Given the description of an element on the screen output the (x, y) to click on. 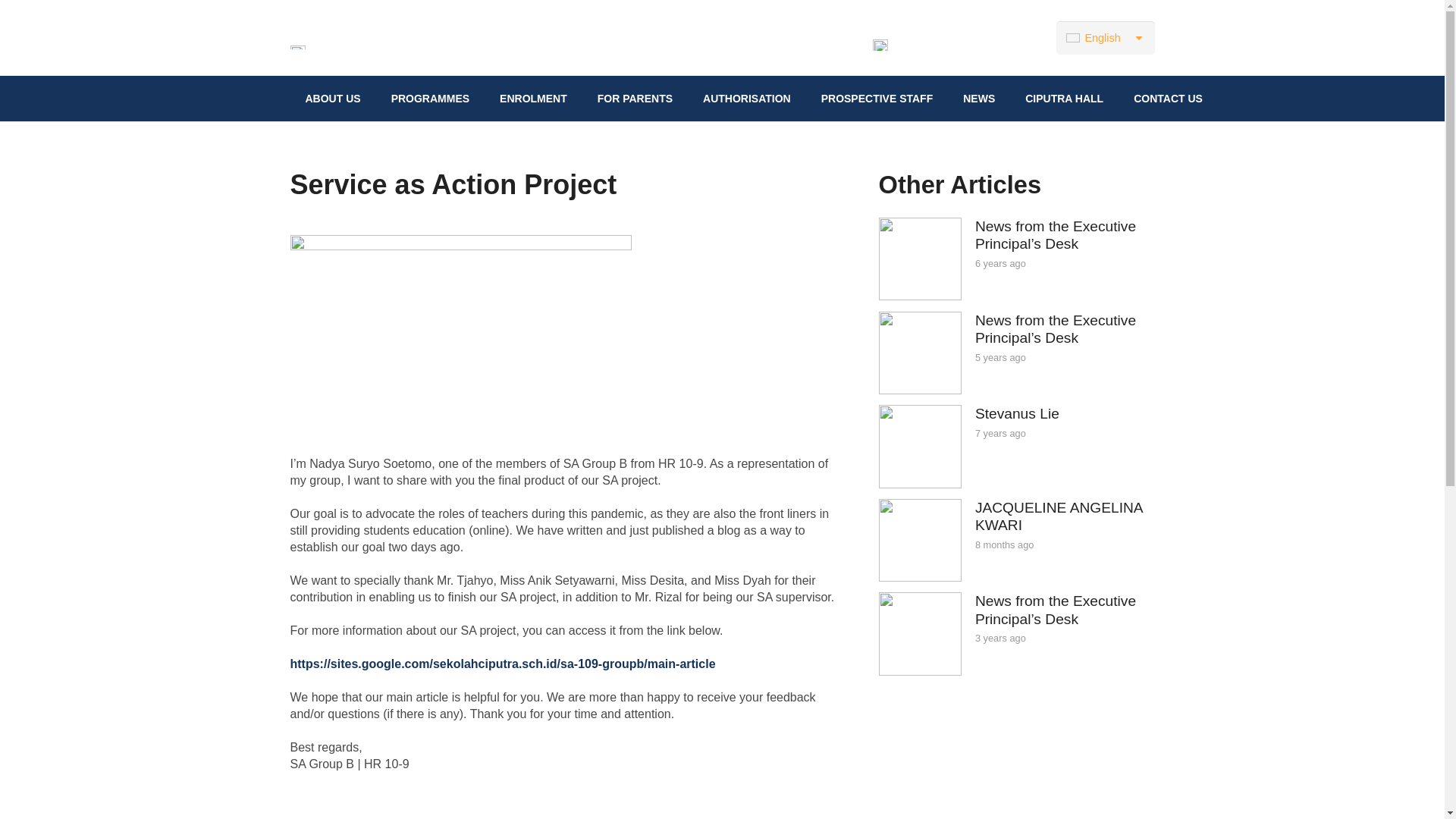
FOR PARENTS (634, 98)
PROGRAMMES (429, 98)
ENROLMENT (533, 98)
English (1105, 38)
ABOUT US (332, 98)
